Given the description of an element on the screen output the (x, y) to click on. 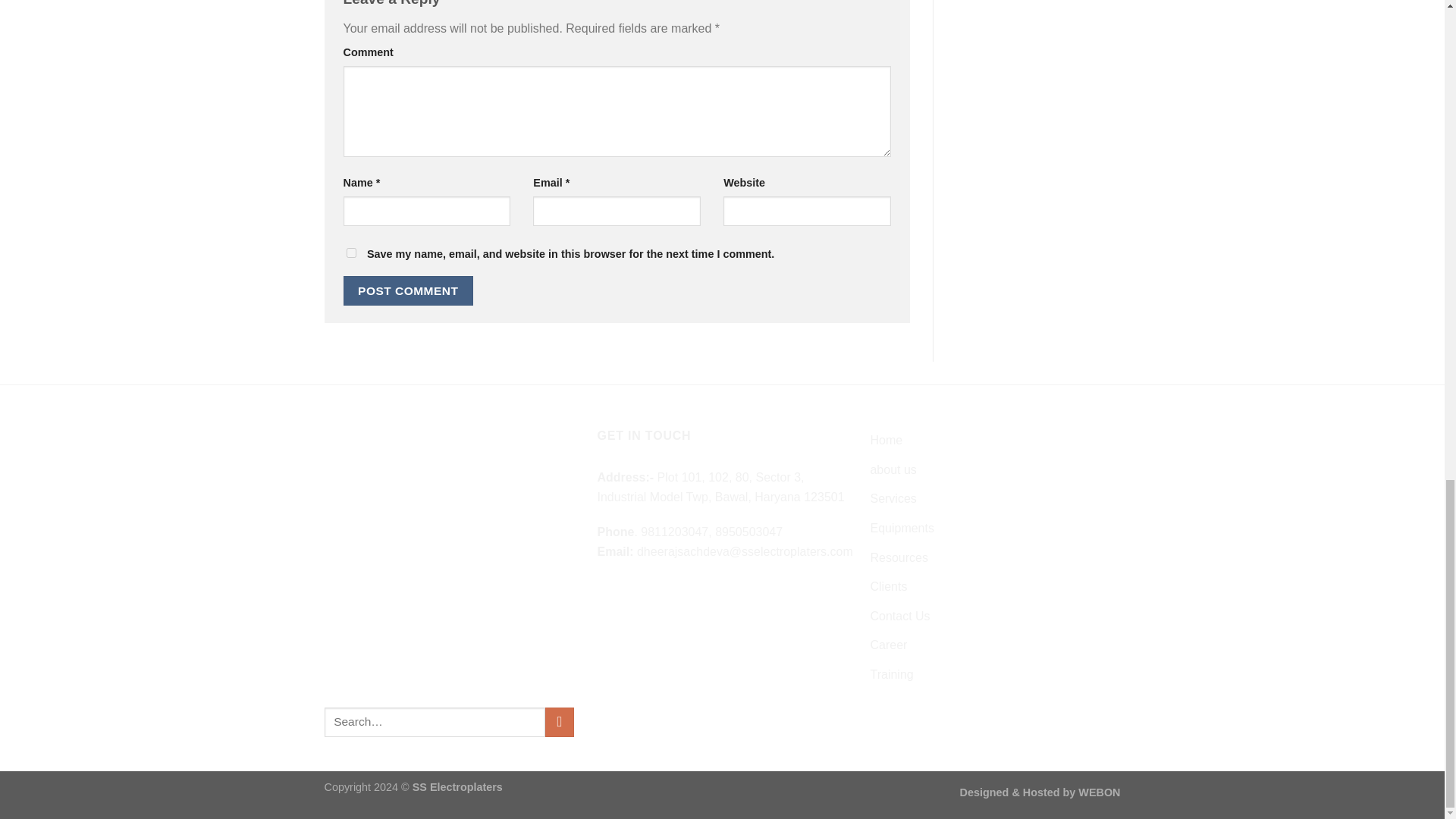
yes (350, 252)
Post Comment (407, 290)
Post Comment (407, 290)
